Given the description of an element on the screen output the (x, y) to click on. 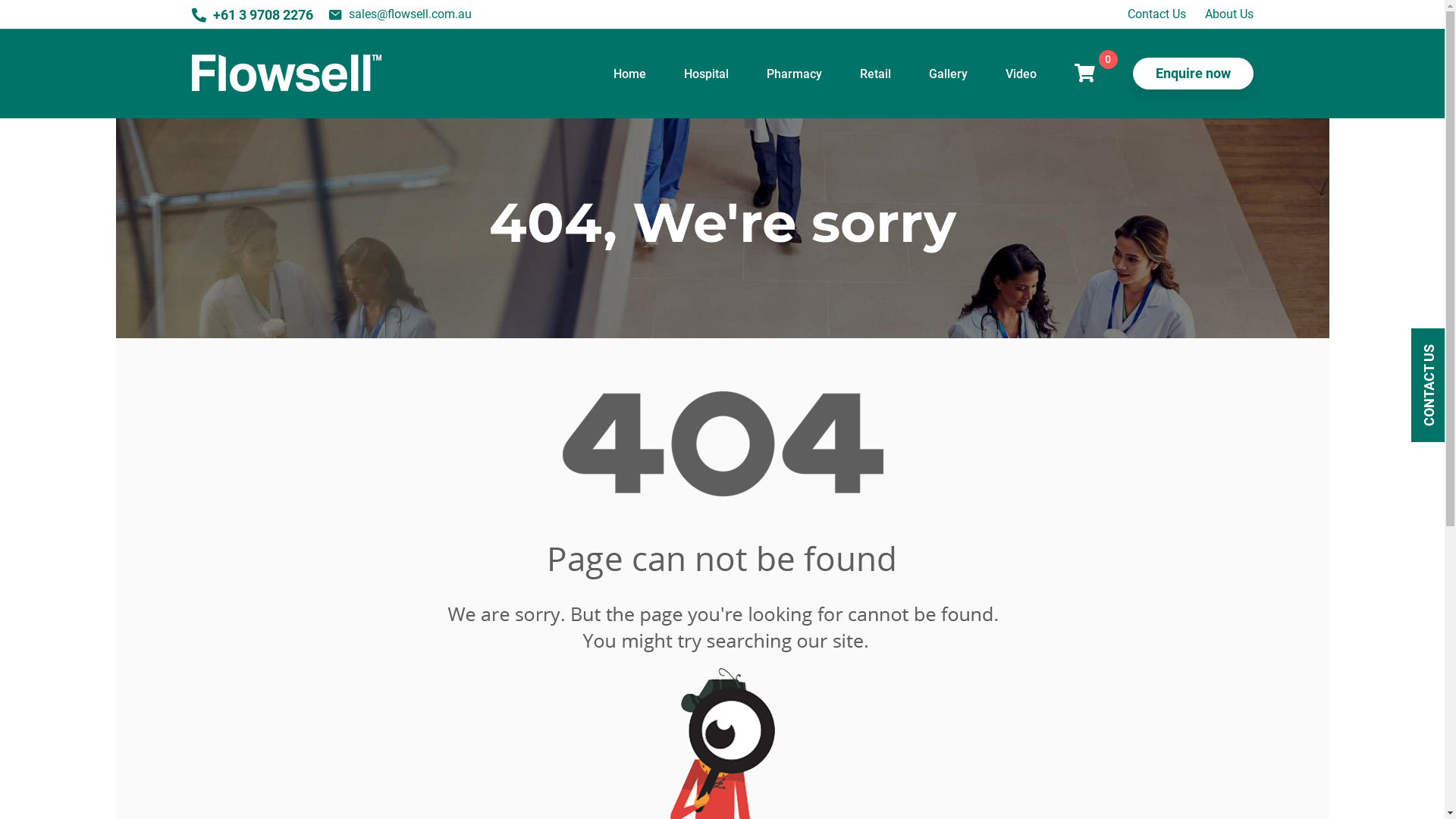
About Us Element type: text (1228, 13)
Video Element type: text (1020, 72)
Contact Us Element type: text (1155, 13)
Enquire now Element type: text (1192, 73)
Hospital Element type: text (706, 72)
Retail Element type: text (875, 72)
+61 3 9708 2276 Element type: text (251, 13)
Home Element type: text (628, 72)
0 Element type: text (1083, 73)
sales@flowsell.com.au Element type: text (398, 14)
Pharmacy Element type: text (793, 72)
Gallery Element type: text (947, 72)
